Given the description of an element on the screen output the (x, y) to click on. 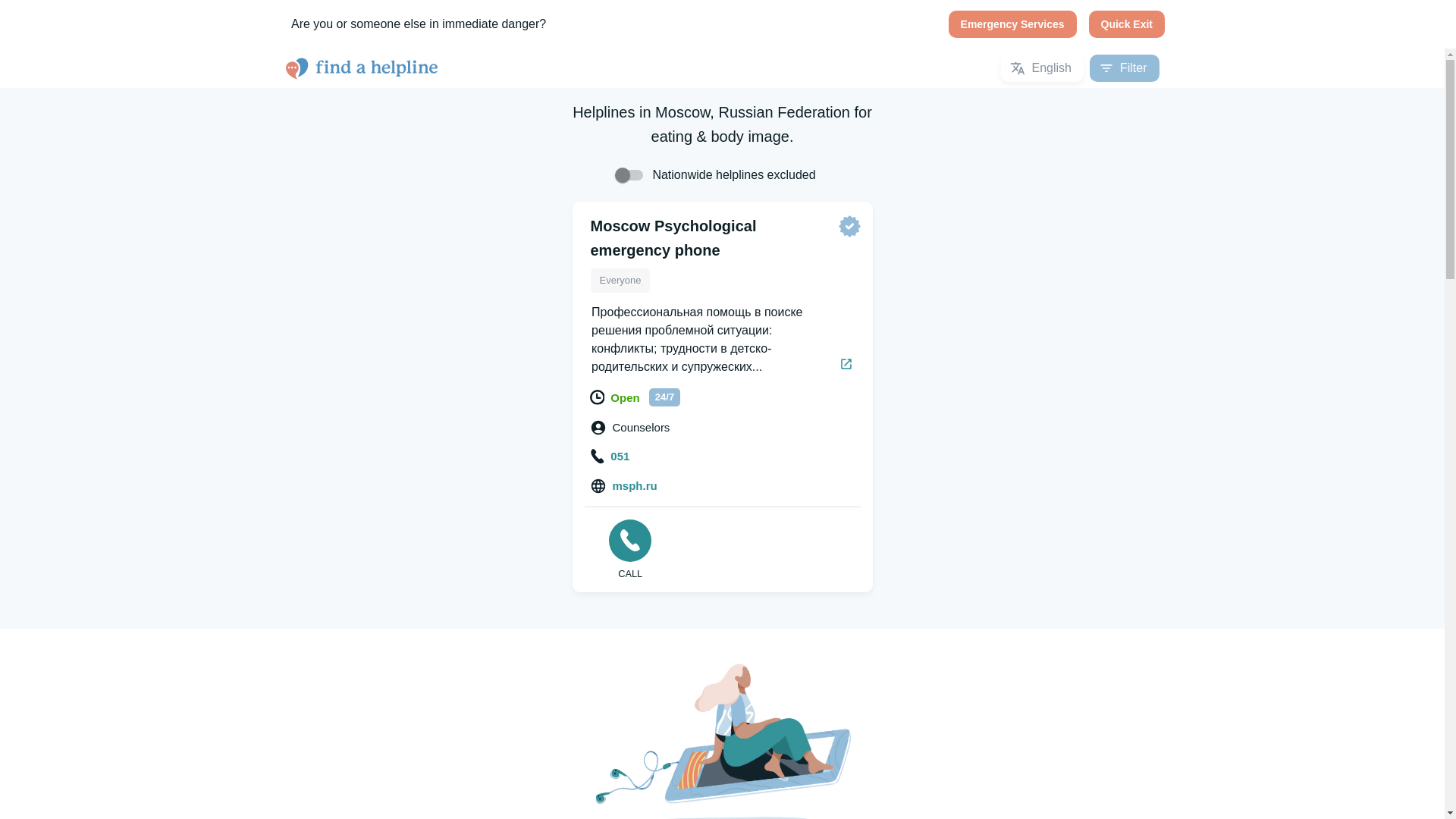
Quick Exit (1126, 24)
English (1042, 67)
msph.ru (624, 486)
051 (610, 456)
Moscow Psychological emergency phone (672, 237)
Filter (1123, 67)
Emergency Services (1013, 24)
Counselors (630, 427)
